Given the description of an element on the screen output the (x, y) to click on. 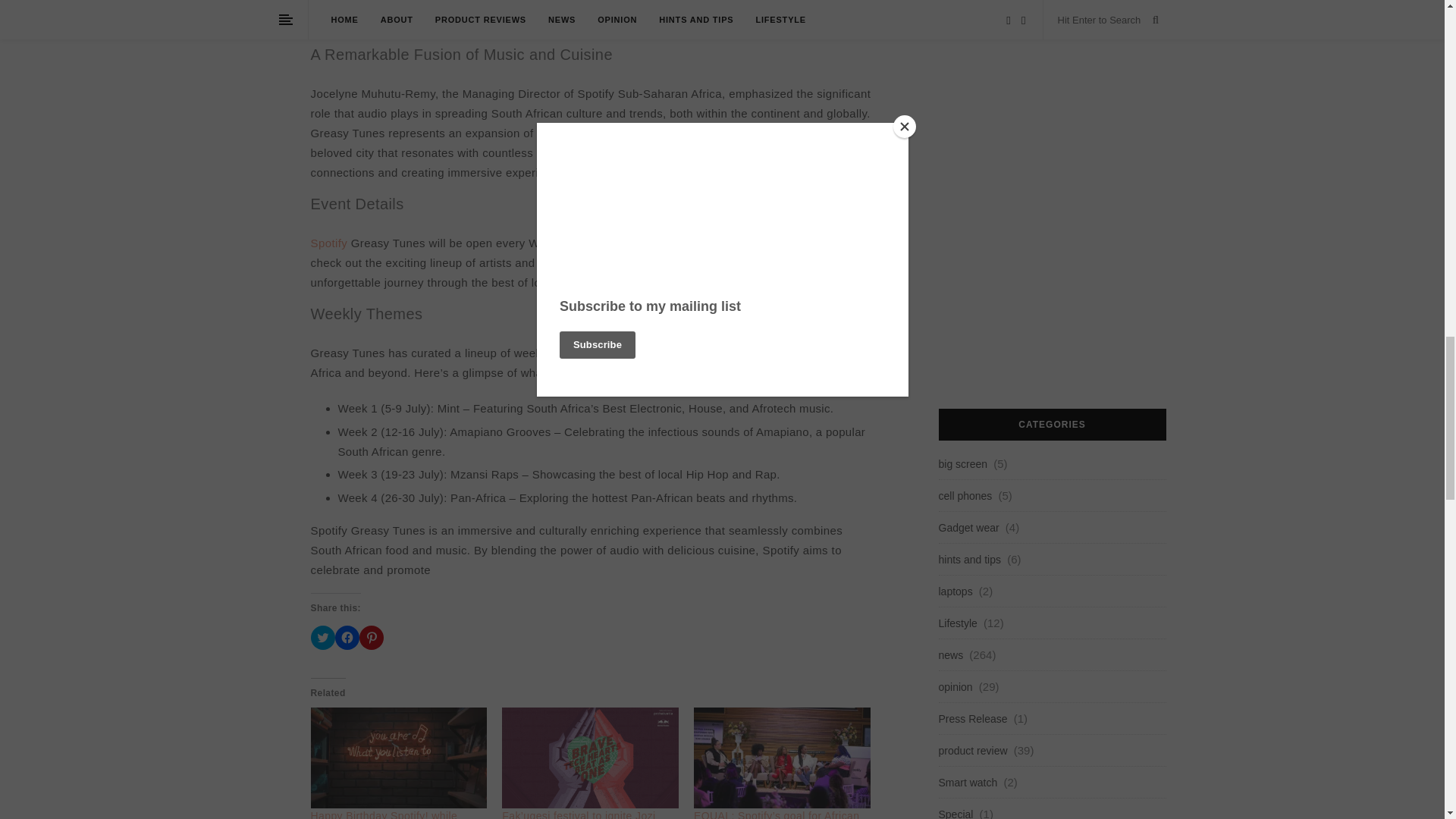
Click to share on Twitter (322, 637)
Click to share on Pinterest (371, 637)
spotifygreasytunes.co.za (674, 262)
Happy Birthday Spotify! while YouTube Music launches locally (390, 814)
Happy Birthday Spotify! while YouTube Music launches locally (399, 757)
Spotify (329, 242)
Happy Birthday Spotify! while YouTube Music launches locally (390, 814)
Click to share on Facebook (346, 637)
